Given the description of an element on the screen output the (x, y) to click on. 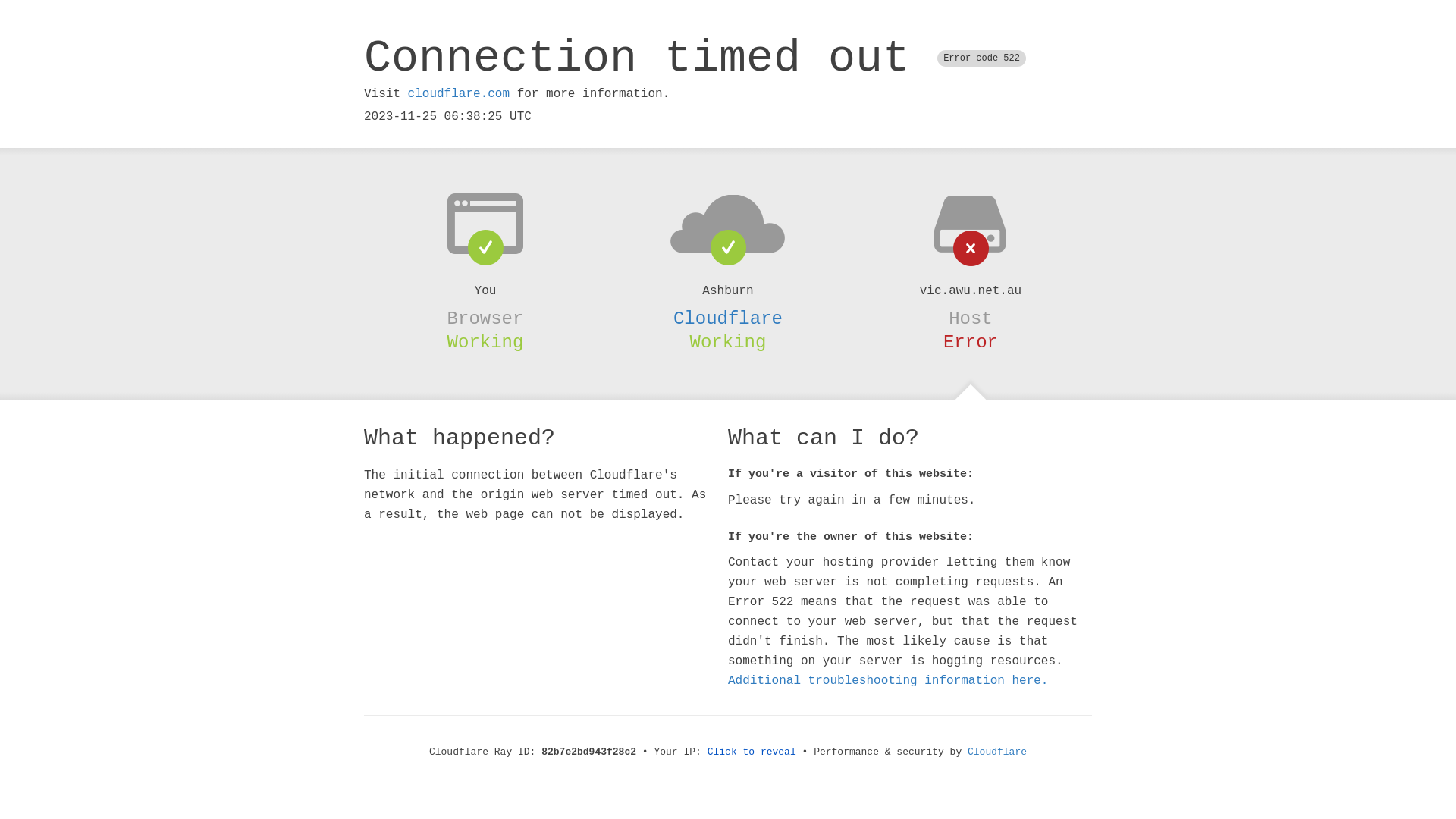
Additional troubleshooting information here. Element type: text (888, 680)
Cloudflare Element type: text (727, 318)
Cloudflare Element type: text (996, 751)
cloudflare.com Element type: text (458, 93)
Click to reveal Element type: text (751, 751)
